Given the description of an element on the screen output the (x, y) to click on. 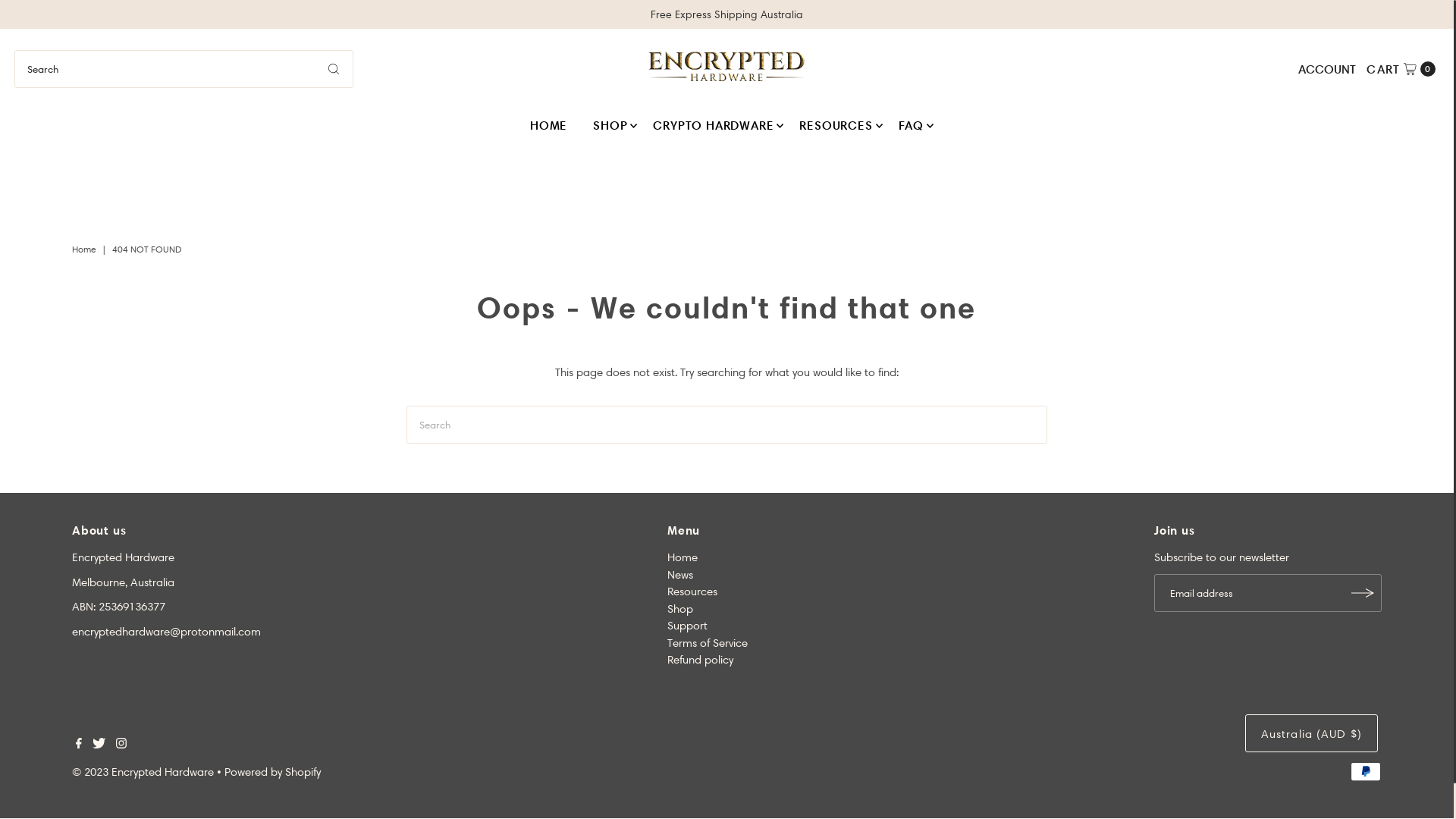
Support Element type: text (687, 625)
SHOP Element type: text (609, 125)
ACCOUNT Element type: text (1326, 68)
HOME Element type: text (548, 125)
Resources Element type: text (692, 591)
Home Element type: text (682, 557)
Home Element type: text (86, 248)
Shop Element type: text (680, 608)
FAQ Element type: text (911, 125)
Terms of Service Element type: text (707, 642)
Refund policy Element type: text (700, 659)
RESOURCES Element type: text (835, 125)
Powered by Shopify Element type: text (272, 771)
CART
0 Element type: text (1400, 68)
CRYPTO HARDWARE Element type: text (712, 125)
Australia (AUD $) Element type: text (1311, 733)
News Element type: text (680, 574)
